Given the description of an element on the screen output the (x, y) to click on. 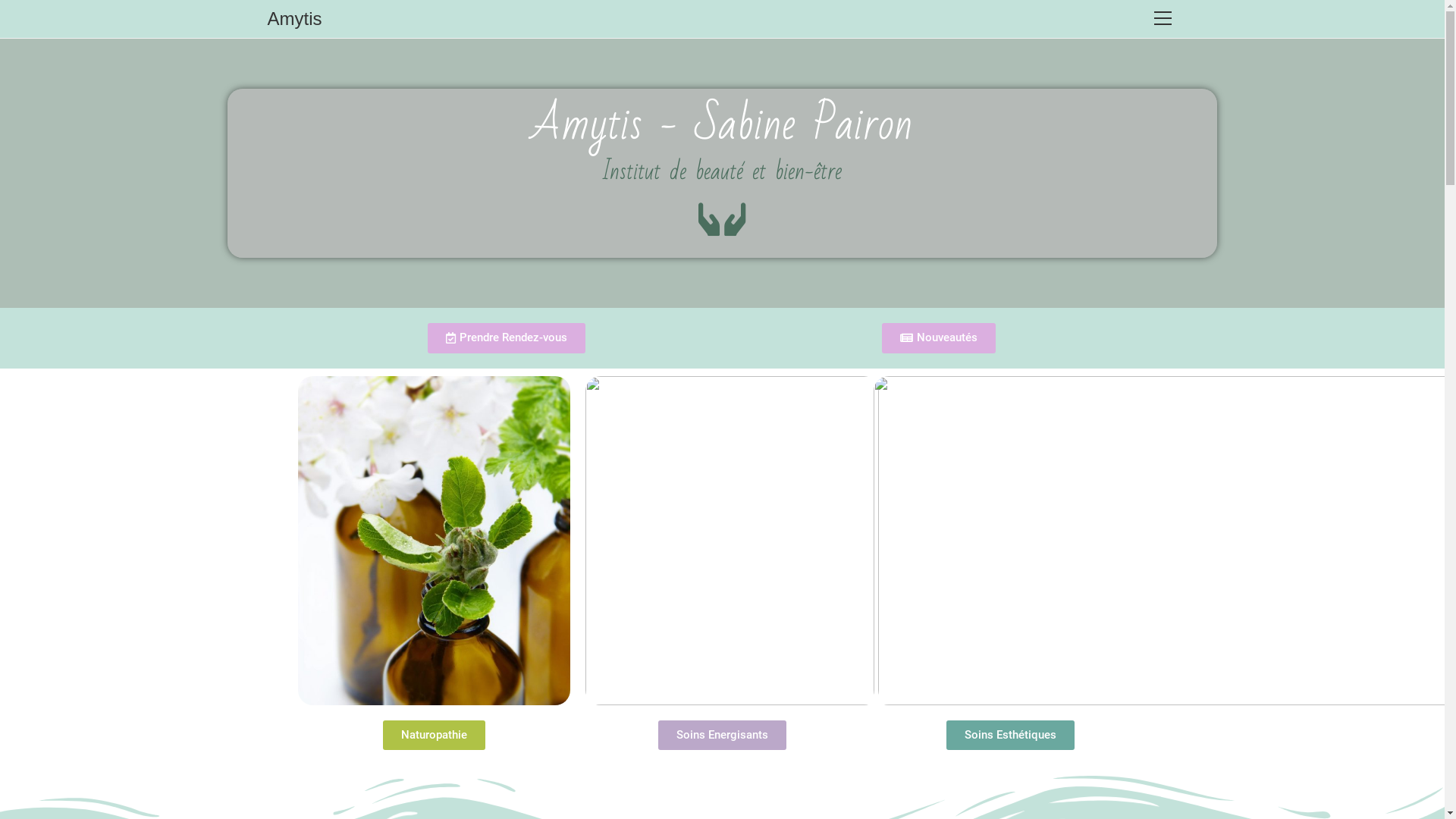
Prendre Rendez-vous Element type: text (506, 338)
Soins Energisants Element type: text (722, 734)
Amytis Element type: text (293, 18)
Naturopathie Element type: text (433, 734)
